Given the description of an element on the screen output the (x, y) to click on. 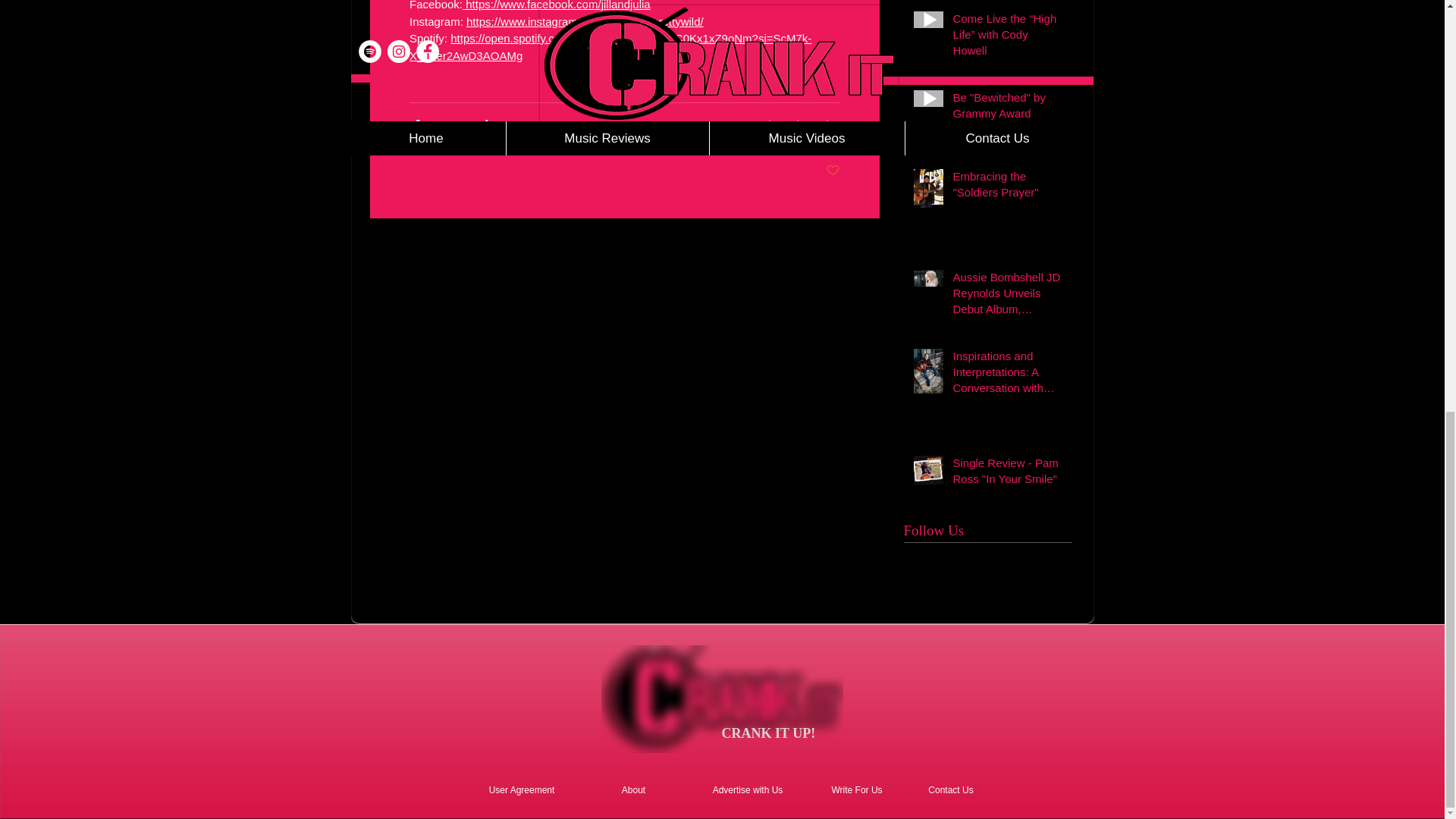
Alternative (814, 124)
Country (715, 124)
Post not marked as liked (832, 170)
Rock (761, 124)
